Given the description of an element on the screen output the (x, y) to click on. 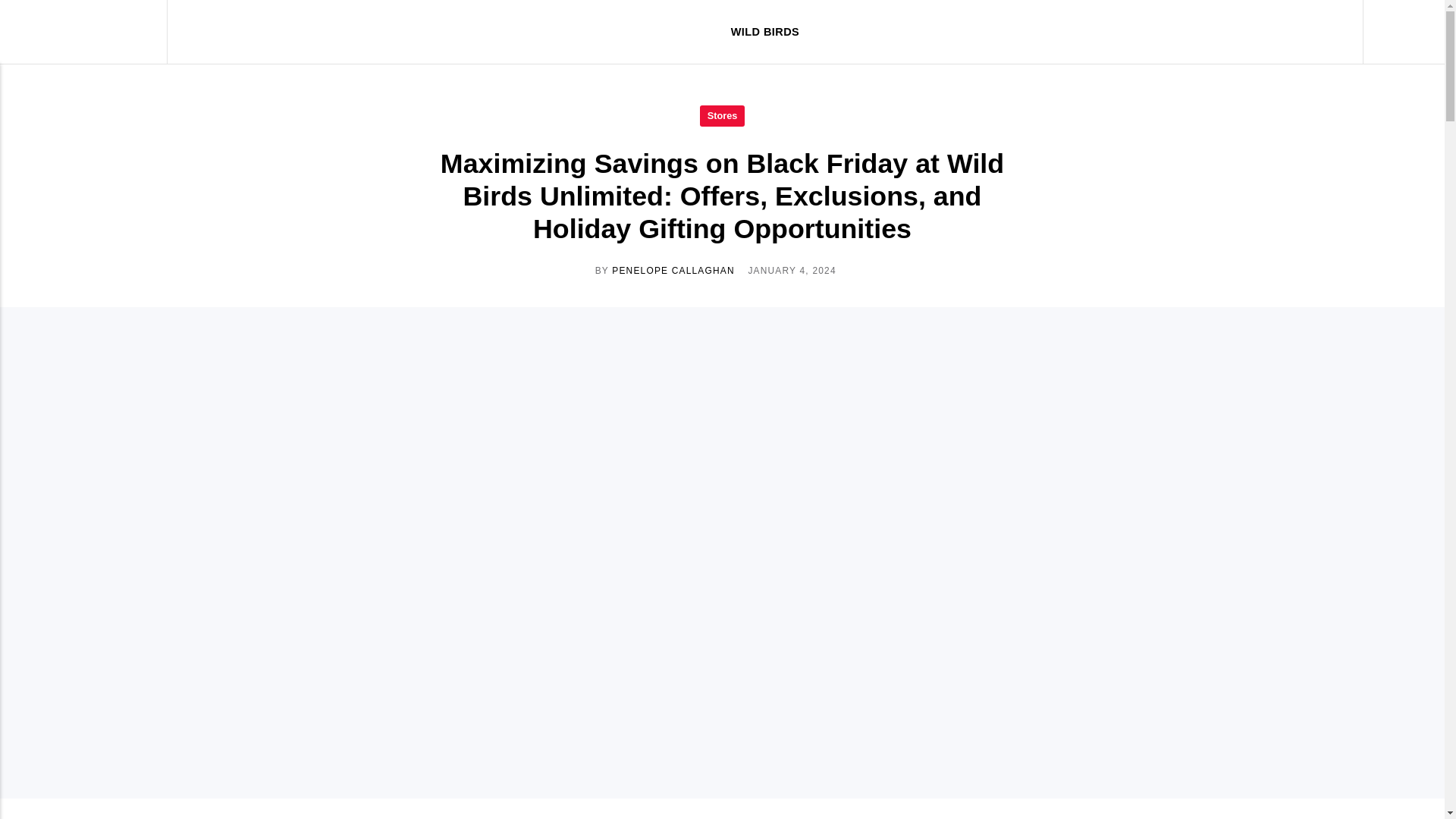
Wild Birds (94, 32)
PENELOPE CALLAGHAN (673, 270)
WILD BIRDS (764, 31)
Stores (722, 115)
